Given the description of an element on the screen output the (x, y) to click on. 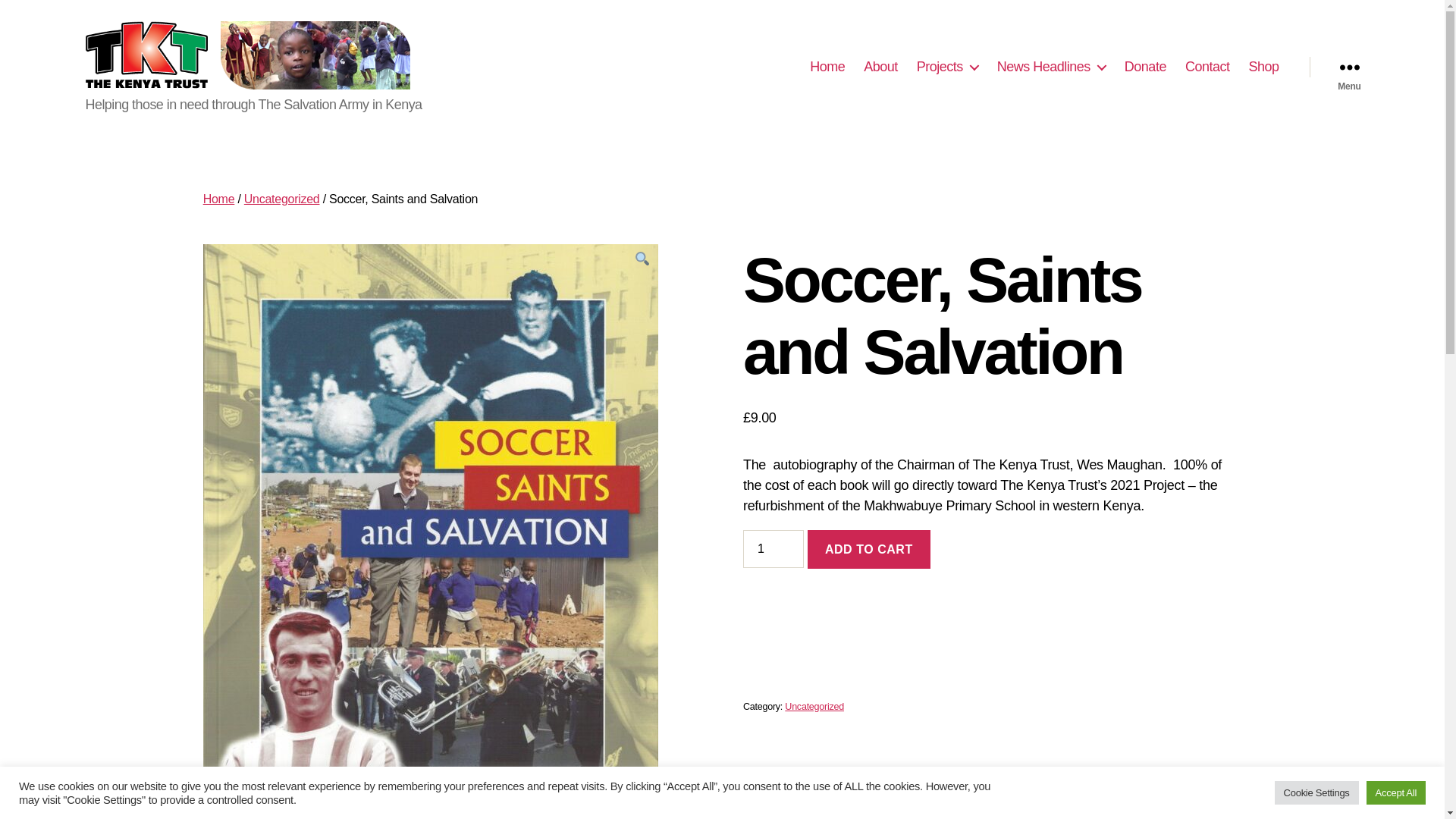
Shop (1262, 67)
About (880, 67)
Home (826, 67)
Projects (947, 67)
Donate (1145, 67)
PayPal (991, 603)
Menu (1348, 66)
1 (772, 548)
Contact (1207, 67)
News Headlines (1051, 67)
PayPal (991, 648)
